Given the description of an element on the screen output the (x, y) to click on. 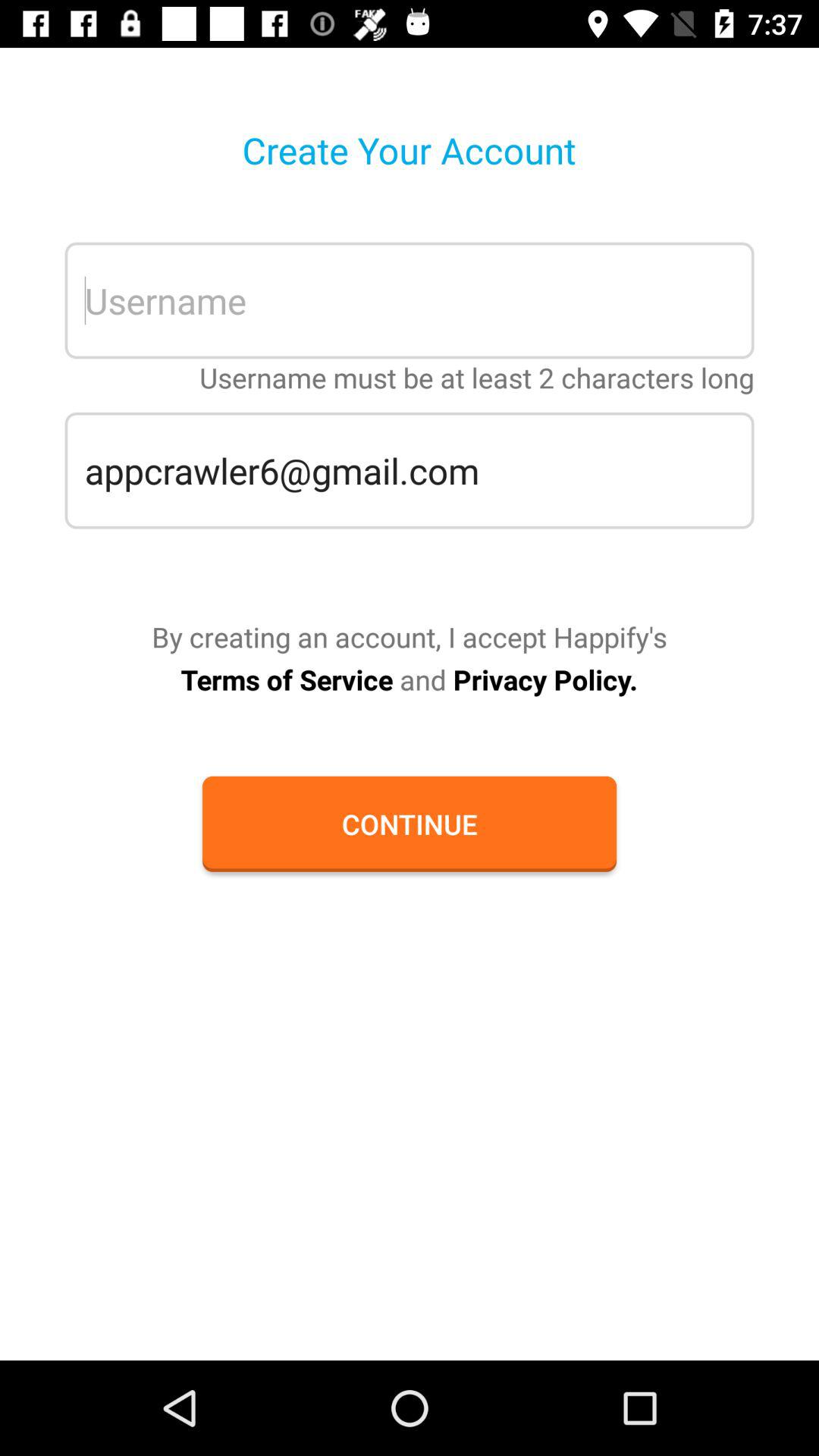
turn on the item above the username must be item (409, 300)
